Given the description of an element on the screen output the (x, y) to click on. 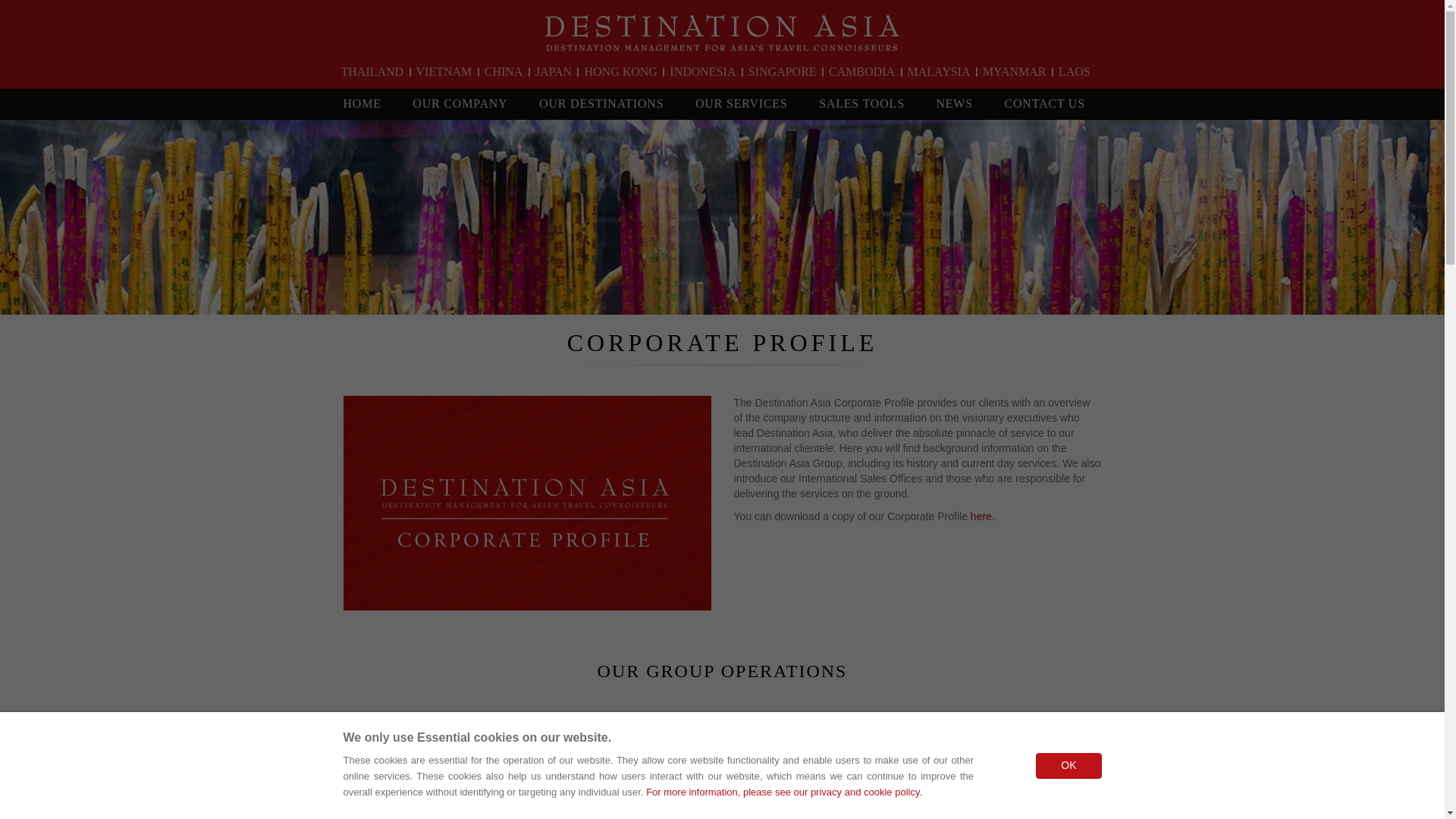
CHINA (503, 71)
VIETNAM (443, 71)
HONG KONG (619, 71)
accept (1067, 765)
Download Destination Corporate Profile in PDF format (981, 516)
OUR DESTINATIONS (601, 103)
MYANMAR (1014, 71)
SINGAPORE (782, 71)
OUR COMPANY (460, 103)
JAPAN (553, 71)
LAOS (1074, 71)
CAMBODIA (861, 71)
MALAYSIA (939, 71)
INDONESIA (702, 71)
HOME (369, 103)
